Given the description of an element on the screen output the (x, y) to click on. 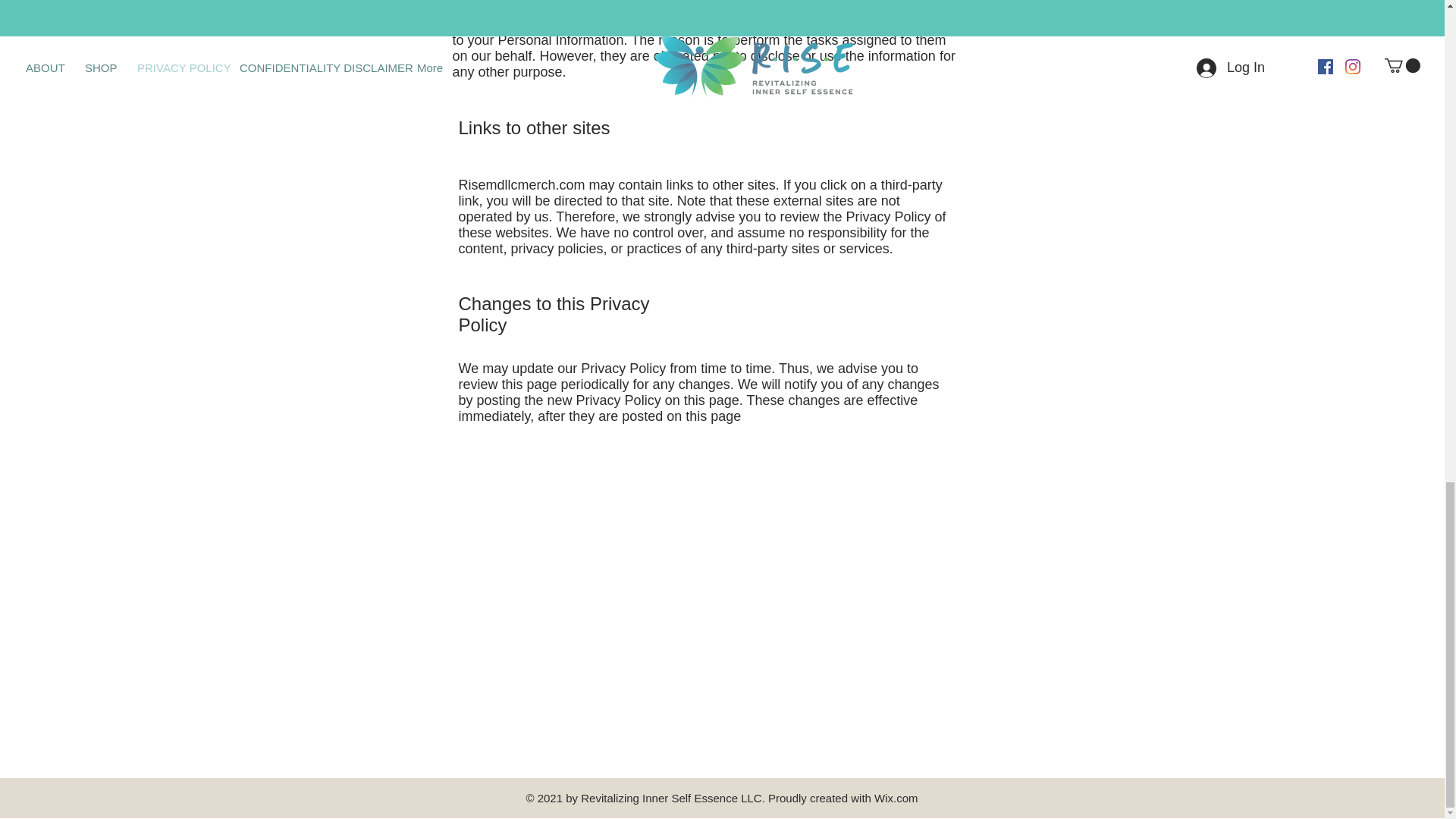
Wix.com (896, 797)
